Given the description of an element on the screen output the (x, y) to click on. 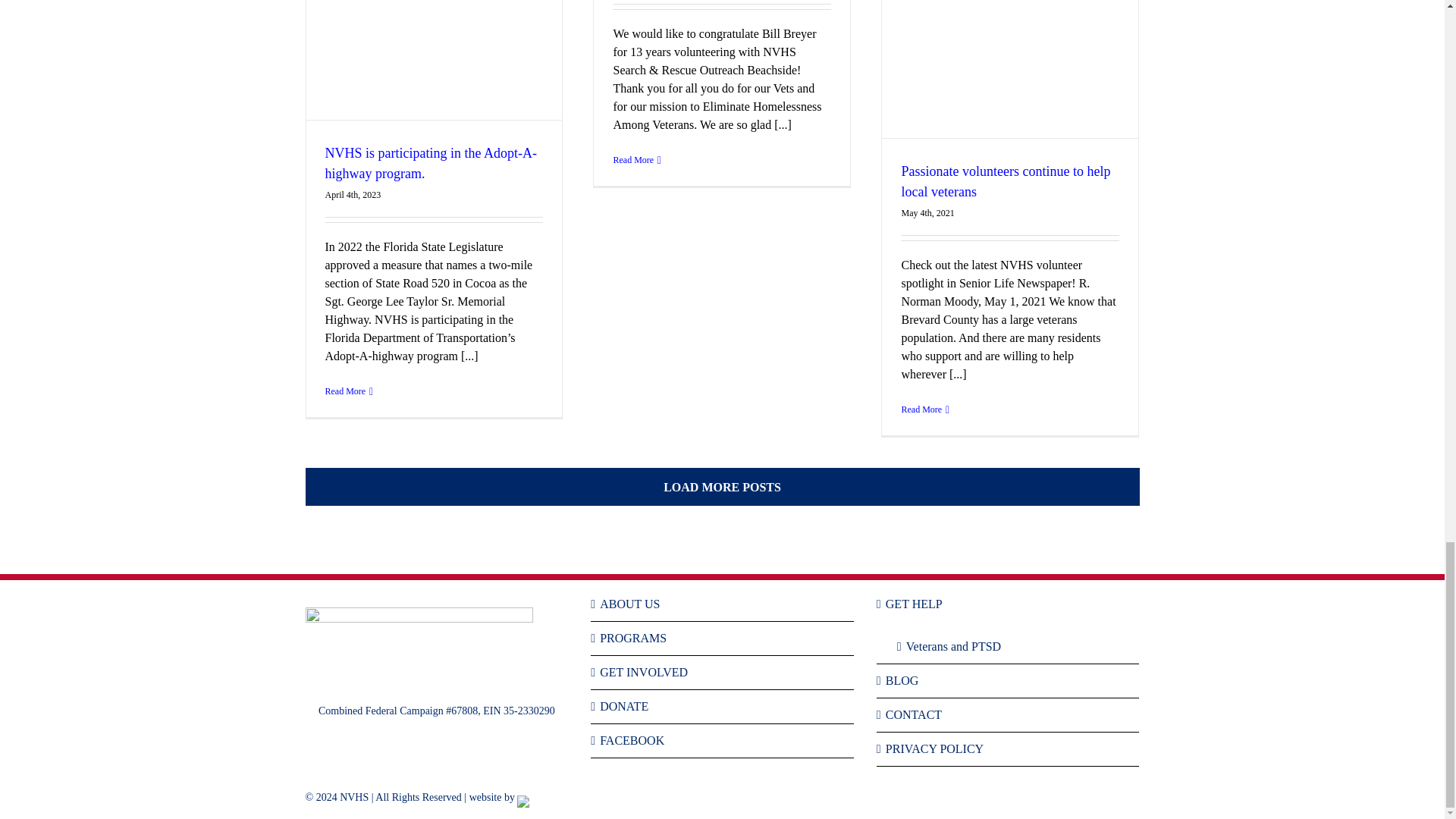
NVHS is participating in the Adopt-A-highway program. (429, 162)
Read More (344, 390)
